Given the description of an element on the screen output the (x, y) to click on. 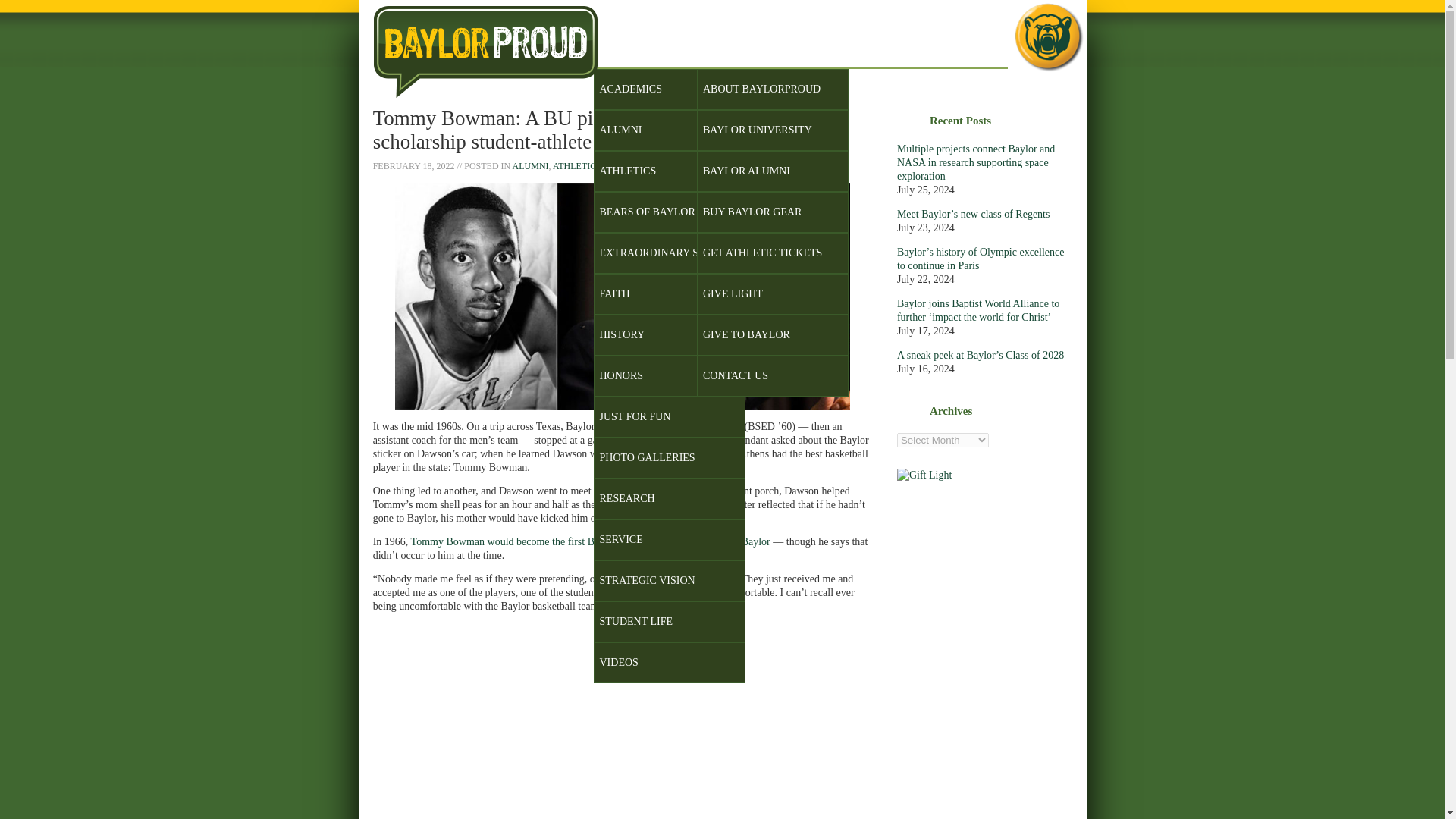
HISTORY (745, 165)
Search (917, 103)
BAYLOR UNIVERSITY (772, 129)
EXTRAORDINARY STORIES (668, 252)
SUBSCRIBE (852, 40)
PHOTO GALLERIES (668, 457)
HISTORY (668, 334)
Search (917, 103)
ALUMNI (530, 165)
RESEARCH (668, 498)
ALUMNI (668, 129)
STUDENT LIFE (668, 621)
SERVICE (668, 539)
Carroll Dawson (707, 426)
EXTRAORDINARY STORIES (663, 165)
